Given the description of an element on the screen output the (x, y) to click on. 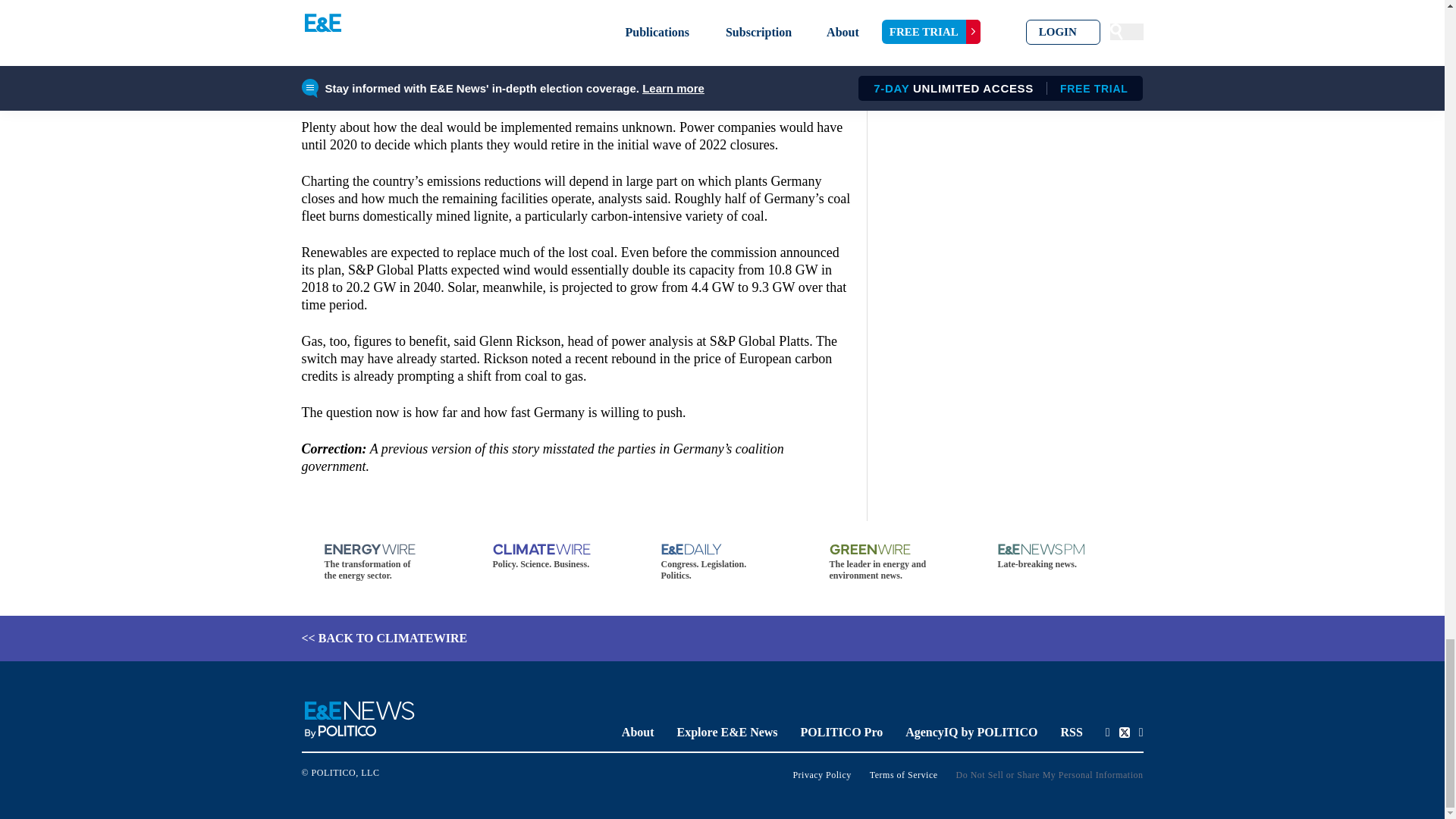
Congress. Legislation. Politics. (722, 562)
About (637, 731)
RSS (1070, 731)
Policy. Science. Business. (554, 556)
The leader in energy and environment news. (890, 562)
POLITICO Pro (841, 731)
The transformation of the energy sector. (385, 562)
AgencyIQ by POLITICO (970, 731)
Late-breaking news. (1058, 556)
